Given the description of an element on the screen output the (x, y) to click on. 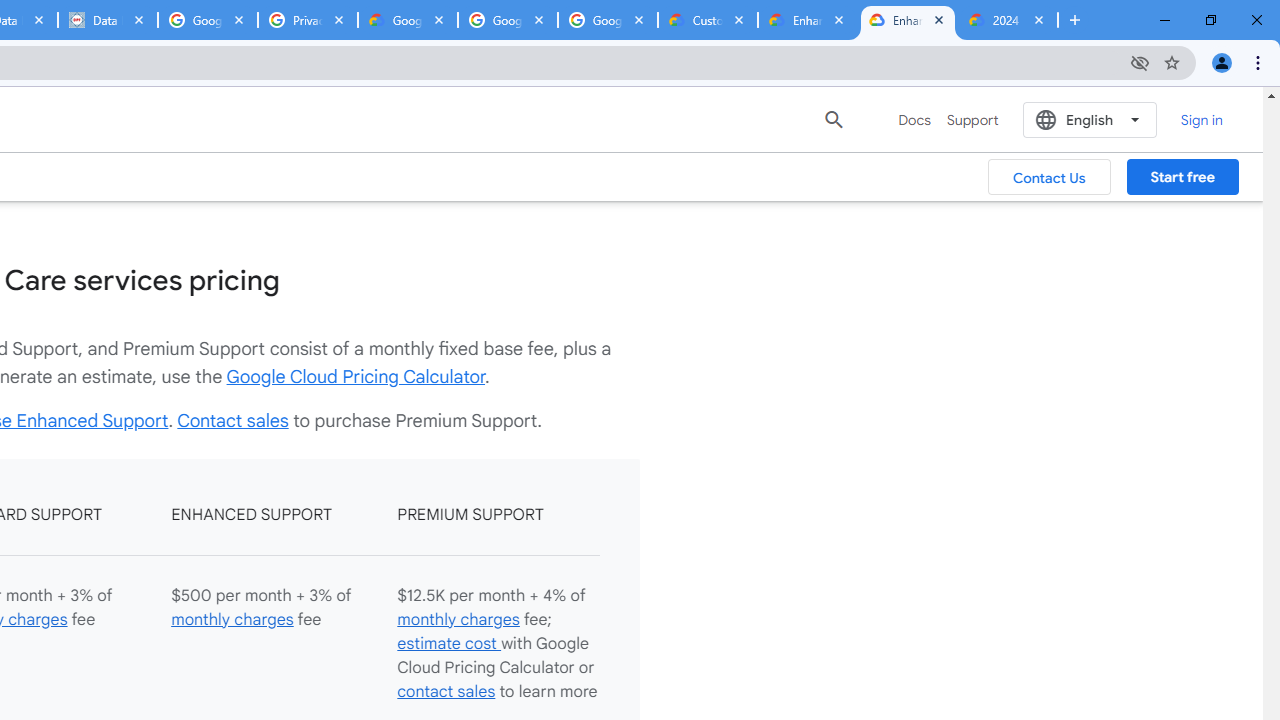
Contact sales (232, 420)
Google Cloud Pricing Calculator (356, 376)
Customer Care | Google Cloud (707, 20)
